Given the description of an element on the screen output the (x, y) to click on. 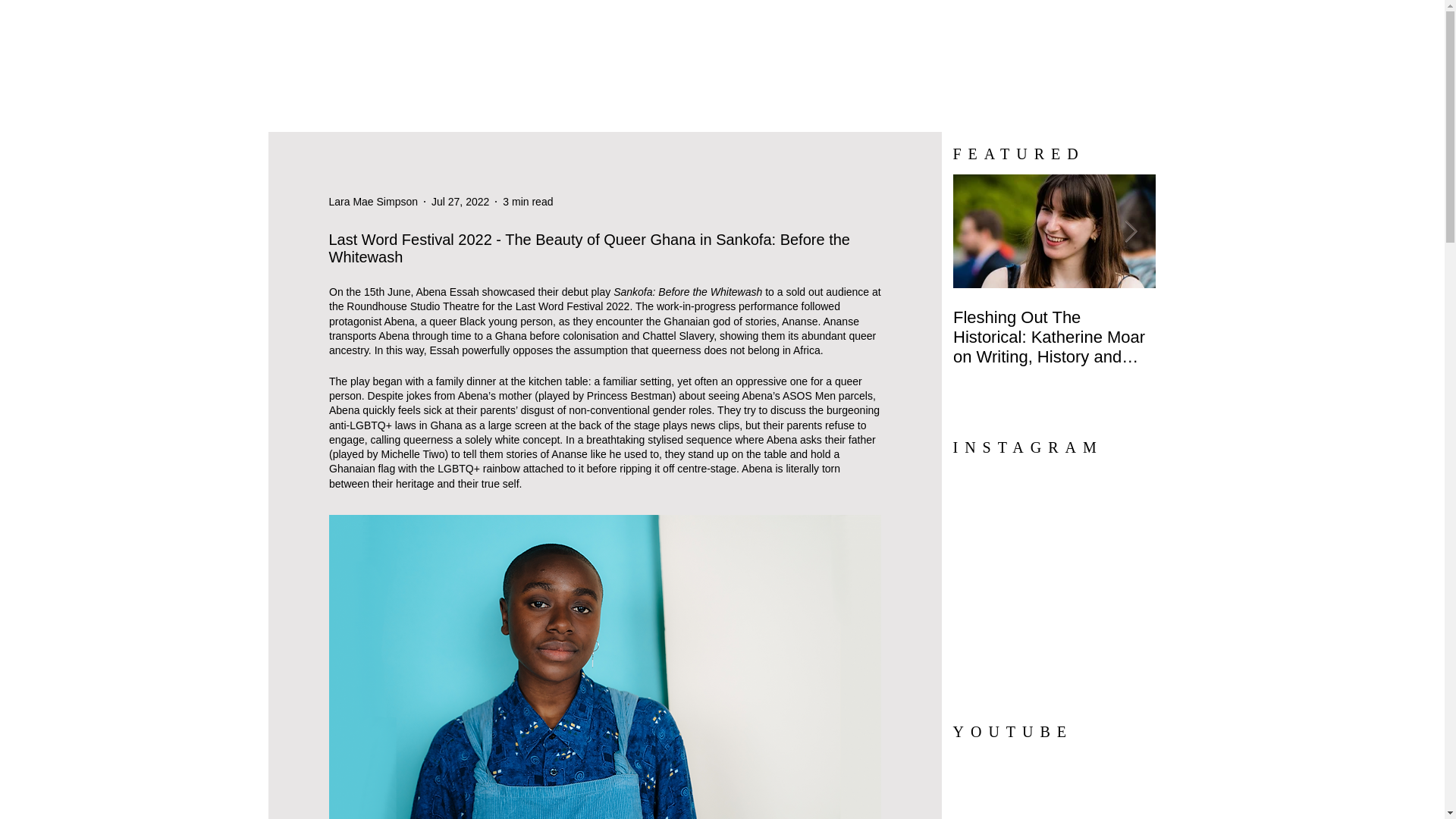
Lara Mae Simpson (374, 201)
Jul 27, 2022 (459, 201)
Lara Mae Simpson (374, 201)
3 min read (527, 201)
